Given the description of an element on the screen output the (x, y) to click on. 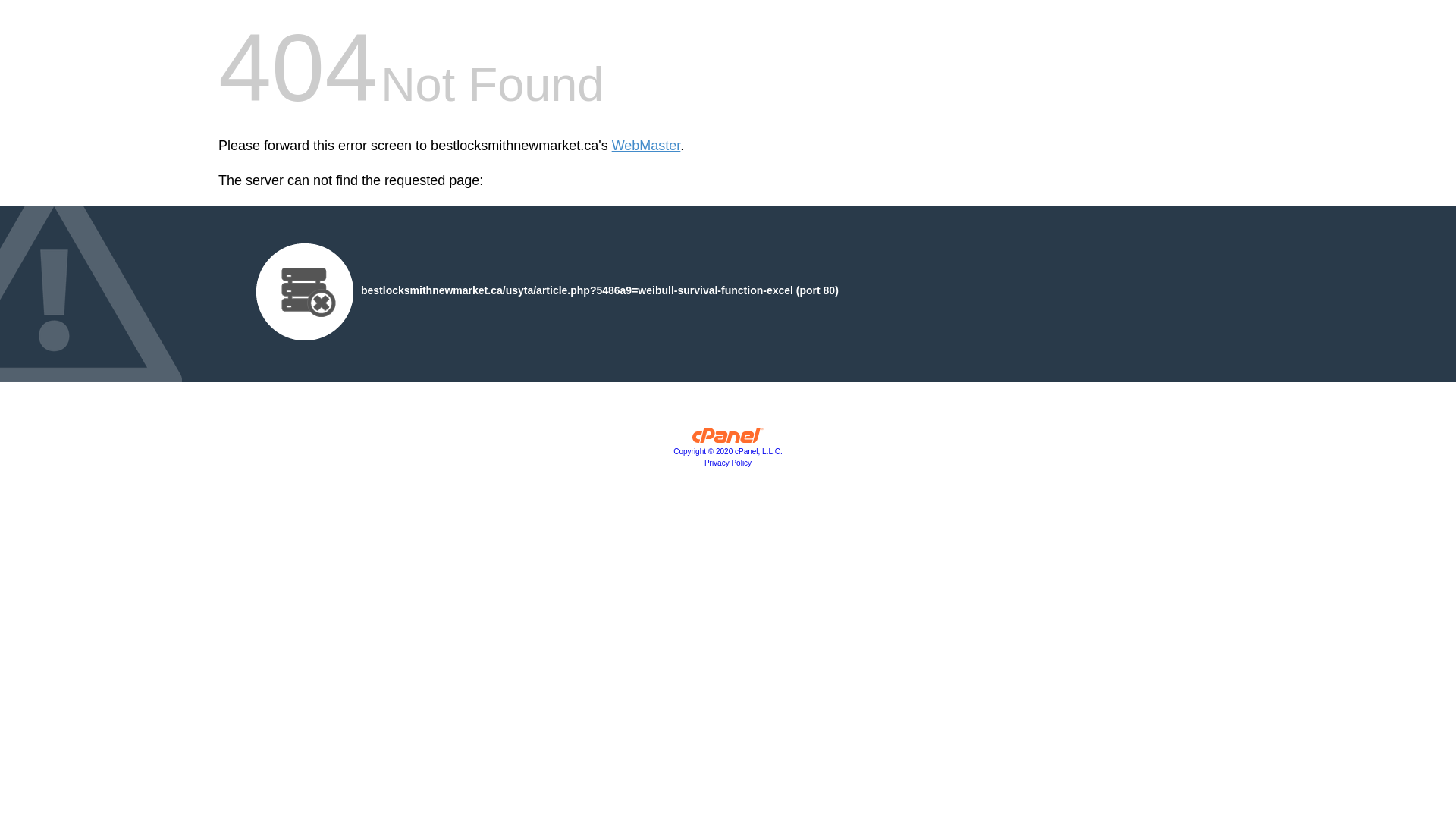
Privacy Policy Element type: text (727, 462)
WebMaster Element type: text (645, 145)
cPanel, Inc. Element type: hover (728, 439)
